Given the description of an element on the screen output the (x, y) to click on. 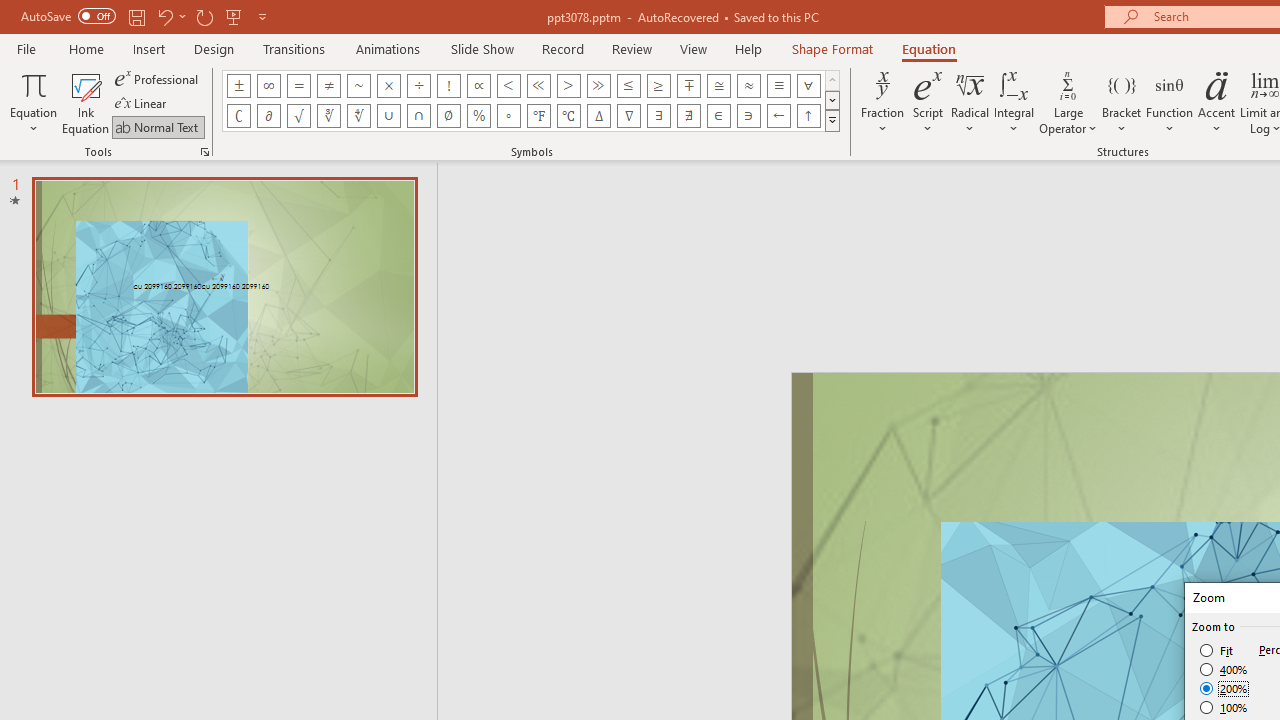
Integral (1014, 102)
Radical (970, 102)
Equation Symbol For All (808, 85)
Equation Symbol Percentage (478, 115)
Equation Symbol Not Equal To (328, 85)
Equation Symbol Almost Equal To (Asymptotic To) (748, 85)
Function (1169, 102)
Equation Options... (204, 151)
Equation Symbol Factorial (448, 85)
Equation Symbol Plus Minus (238, 85)
Equation Symbol Identical To (778, 85)
Equation Symbol Cube Root (328, 115)
100% (1224, 707)
